Given the description of an element on the screen output the (x, y) to click on. 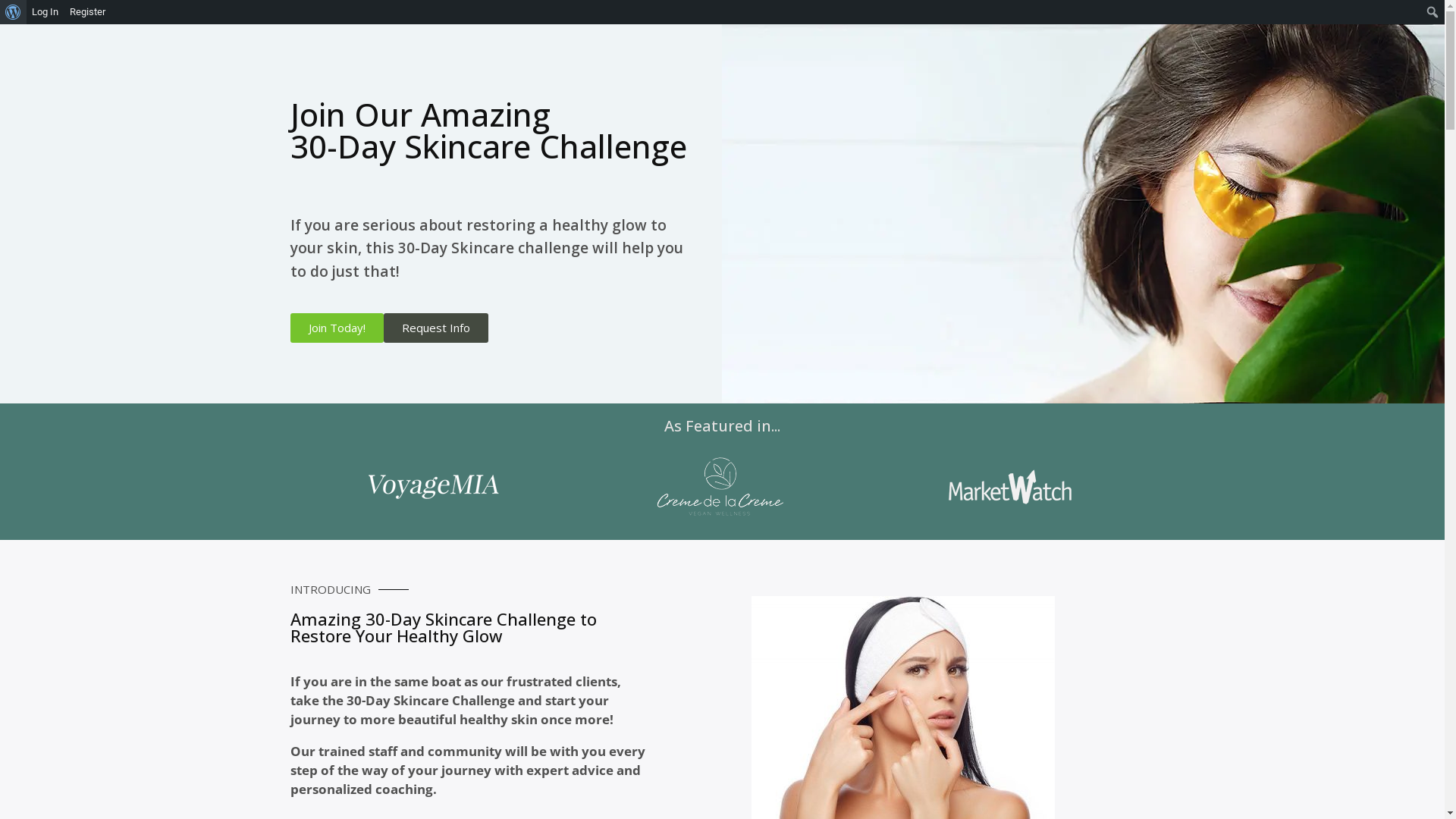
Search Element type: text (15, 12)
Register Element type: text (87, 12)
Request Info Element type: text (435, 327)
Join Today! Element type: text (335, 327)
Log In Element type: text (45, 12)
